Given the description of an element on the screen output the (x, y) to click on. 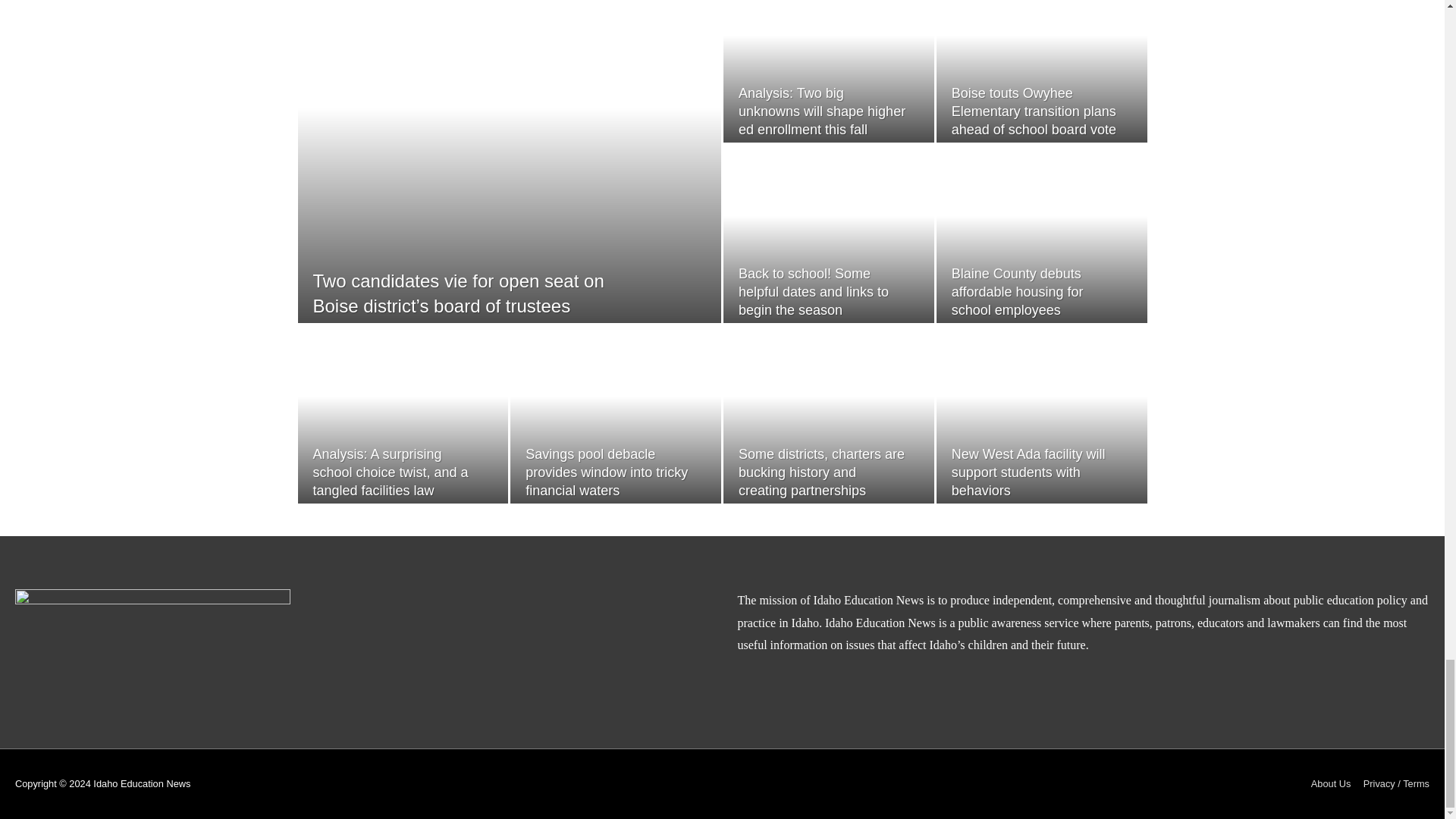
Blaine County debuts affordable housing for school employees (1017, 291)
